Given the description of an element on the screen output the (x, y) to click on. 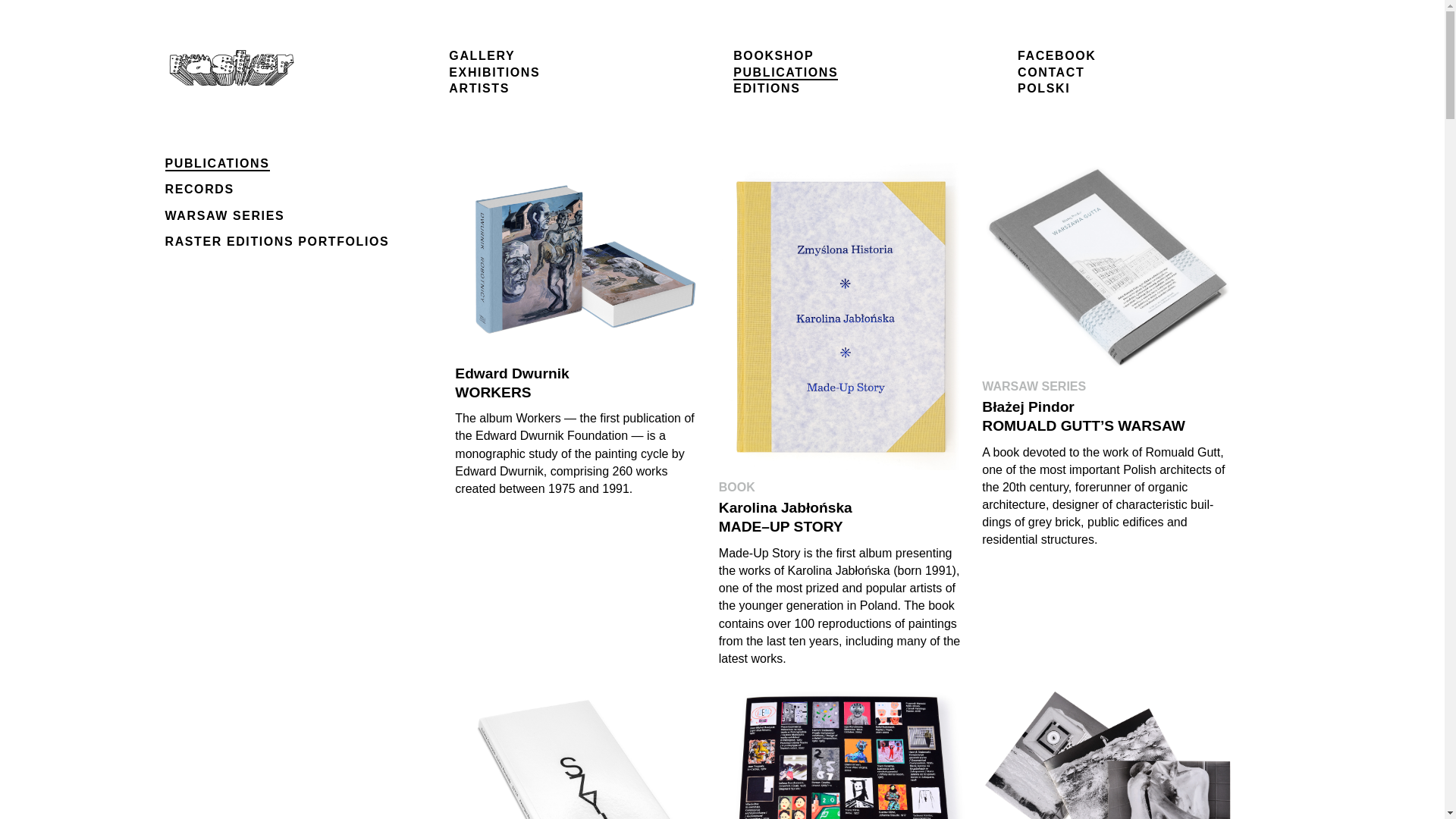
GALLERY (481, 55)
SMALL PAINTINGS (844, 749)
BOOKSHOP (773, 55)
EXHIBITIONS (494, 72)
CONTACT (1050, 72)
NEGATIVE BOOK (1107, 749)
WARSAW SERIES (225, 215)
RECORDS (199, 188)
FACEBOOK (1056, 55)
POLSKI (1043, 88)
